Given the description of an element on the screen output the (x, y) to click on. 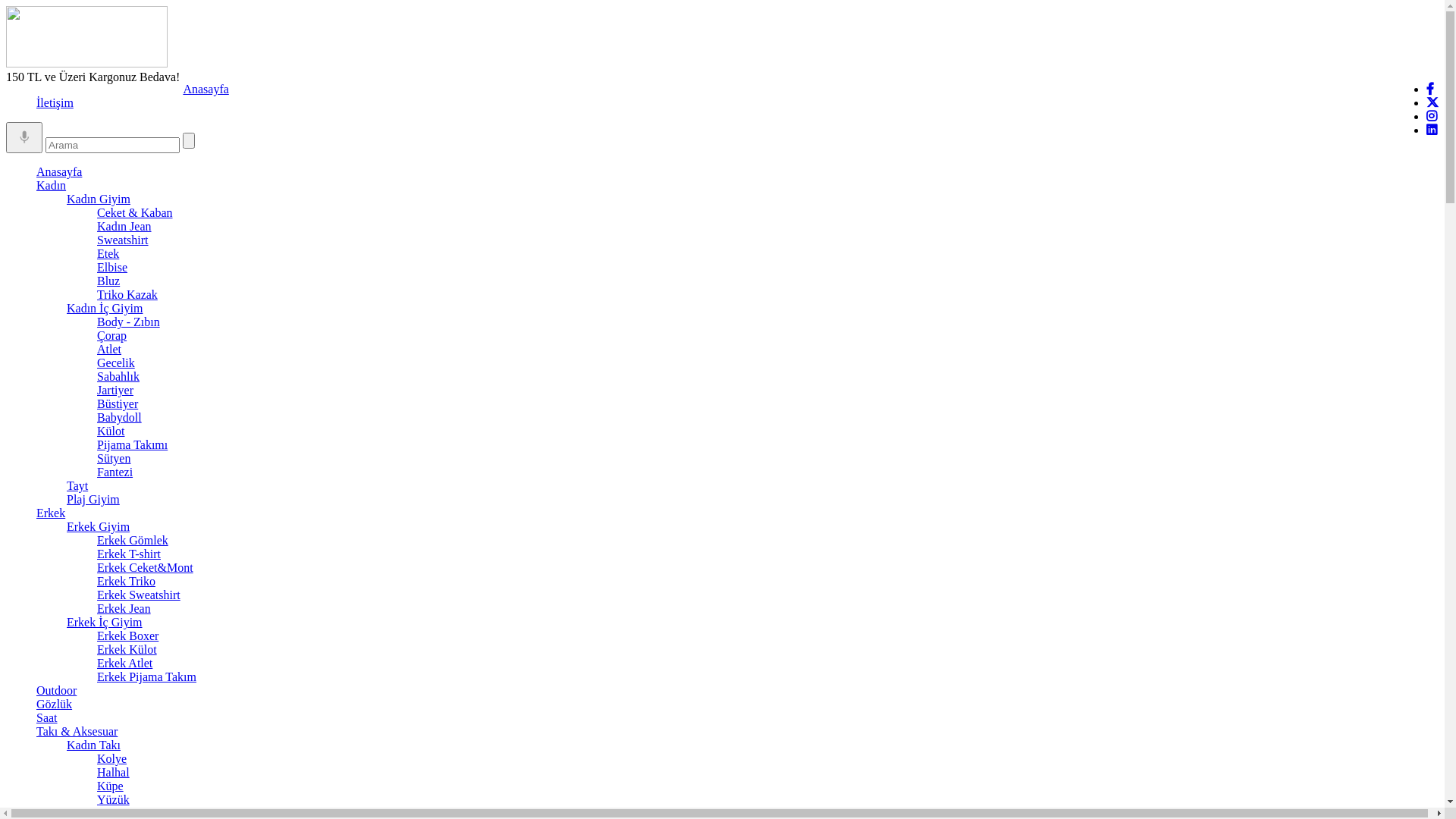
Ceket & Kaban Element type: text (134, 212)
Sweatshirt Element type: text (122, 239)
Erkek T-shirt Element type: text (128, 553)
Jartiyer Element type: text (115, 389)
Erkek Boxer Element type: text (127, 635)
Erkek Atlet Element type: text (124, 662)
Erkek Giyim Element type: text (97, 526)
Kolye Element type: text (111, 758)
Plaj Giyim Element type: text (92, 498)
Fantezi Element type: text (114, 471)
Tayt Element type: text (76, 485)
Gecelik Element type: text (115, 362)
Anasayfa Element type: text (205, 88)
Halhal Element type: text (113, 771)
Erkek Element type: text (50, 512)
Anasayfa Element type: text (58, 171)
Etek Element type: text (108, 253)
Erkek Jean Element type: text (123, 608)
Atlet Element type: text (109, 348)
Erkek Triko Element type: text (126, 580)
Erkek Sweatshirt Element type: text (138, 594)
Saat Element type: text (46, 717)
Triko Kazak Element type: text (127, 294)
Erkek Ceket&Mont Element type: text (145, 567)
Outdoor Element type: text (56, 690)
Elbise Element type: text (112, 266)
Bluz Element type: text (108, 280)
Babydoll Element type: text (119, 417)
